Given the description of an element on the screen output the (x, y) to click on. 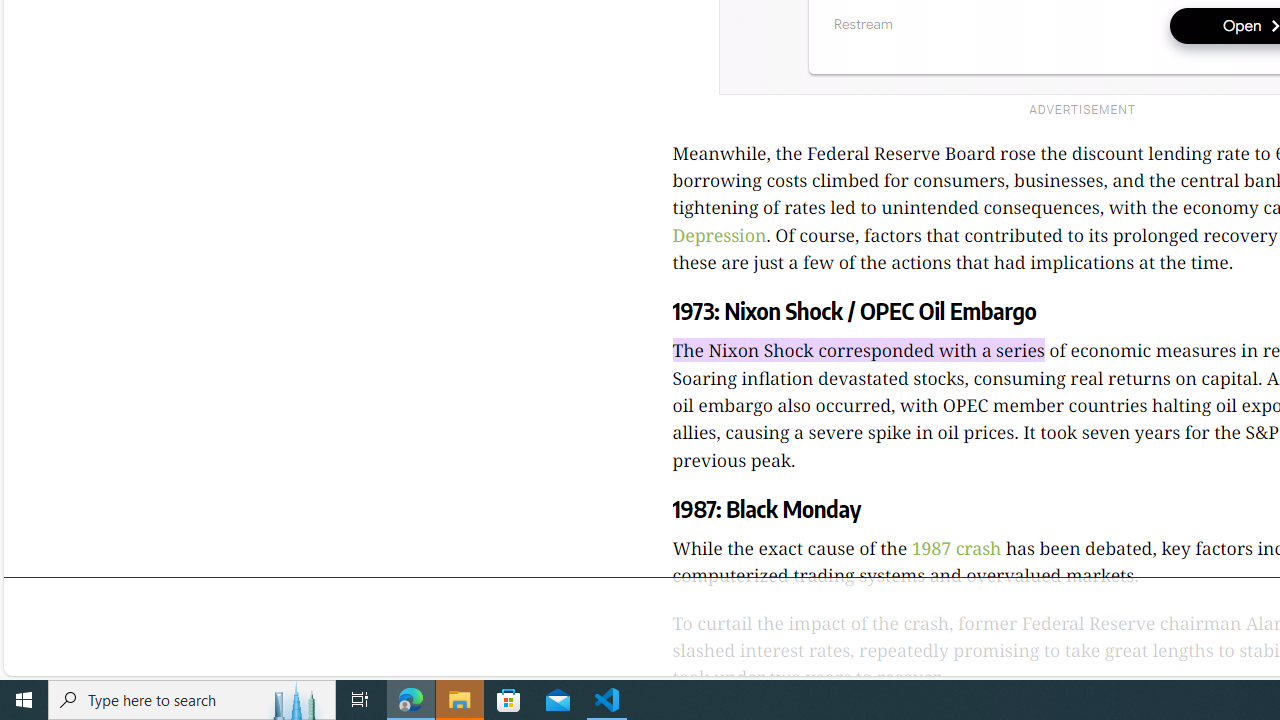
Restream (863, 24)
1987 crash (956, 547)
